Given the description of an element on the screen output the (x, y) to click on. 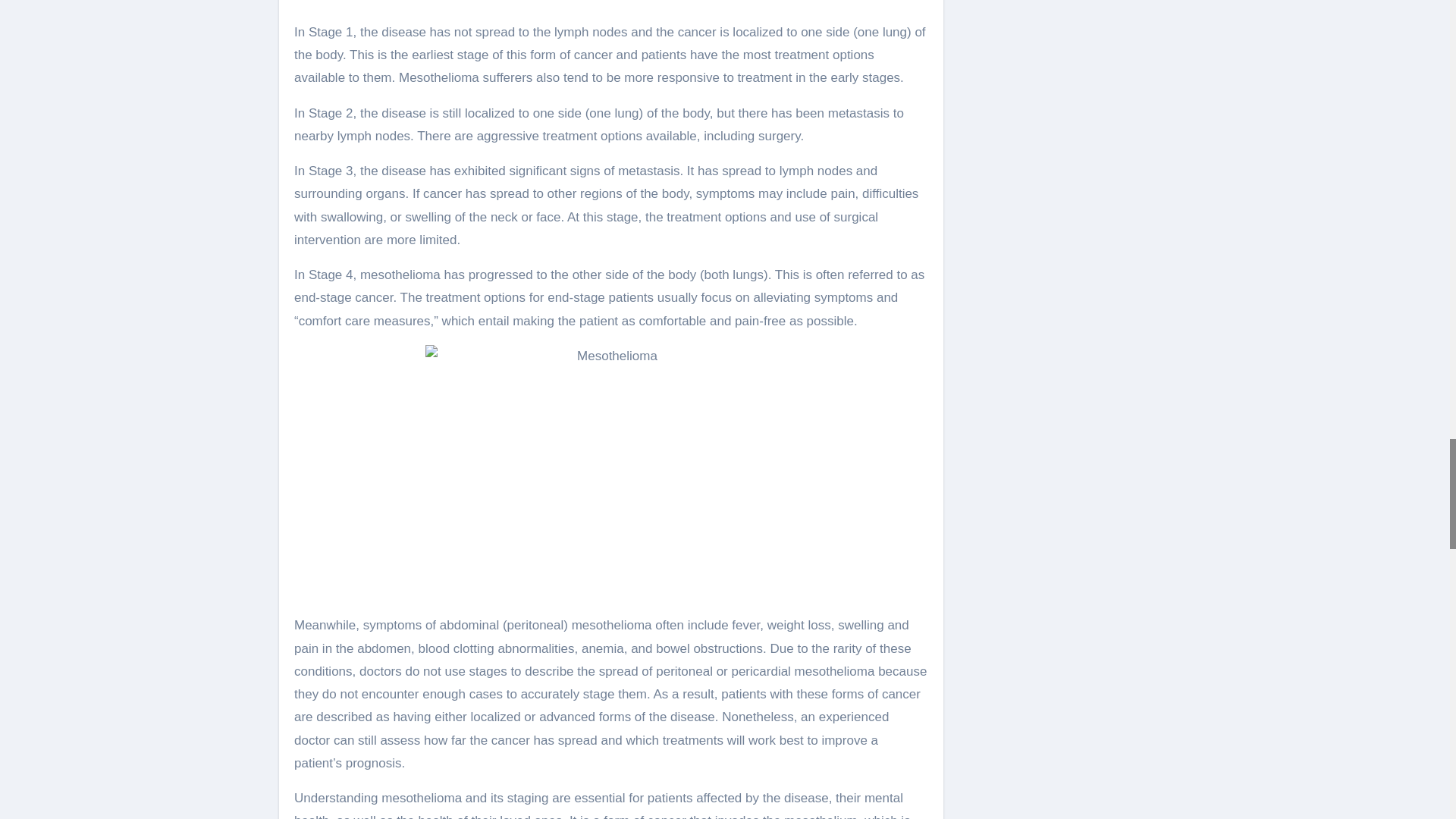
Understanding Mesothelioma and Its Staging (610, 469)
